Given the description of an element on the screen output the (x, y) to click on. 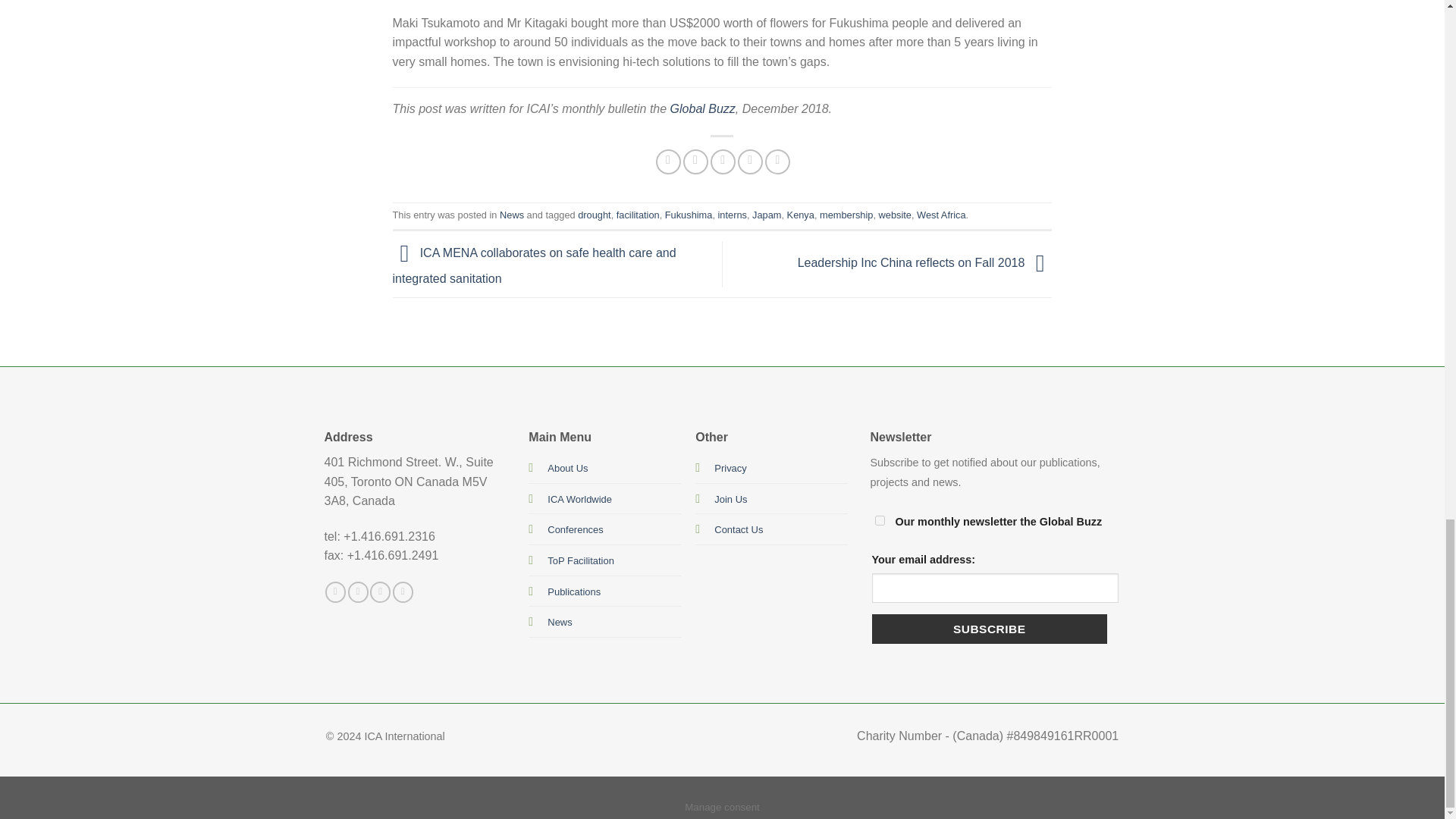
Share on Twitter (694, 161)
Subscribe (989, 628)
Share on Facebook (668, 161)
Our monthly newsletter the Global Buzz (880, 520)
Pin on Pinterest (750, 161)
ICAI Global Buzz, June 2015 (702, 108)
Email to a Friend (722, 161)
